Given the description of an element on the screen output the (x, y) to click on. 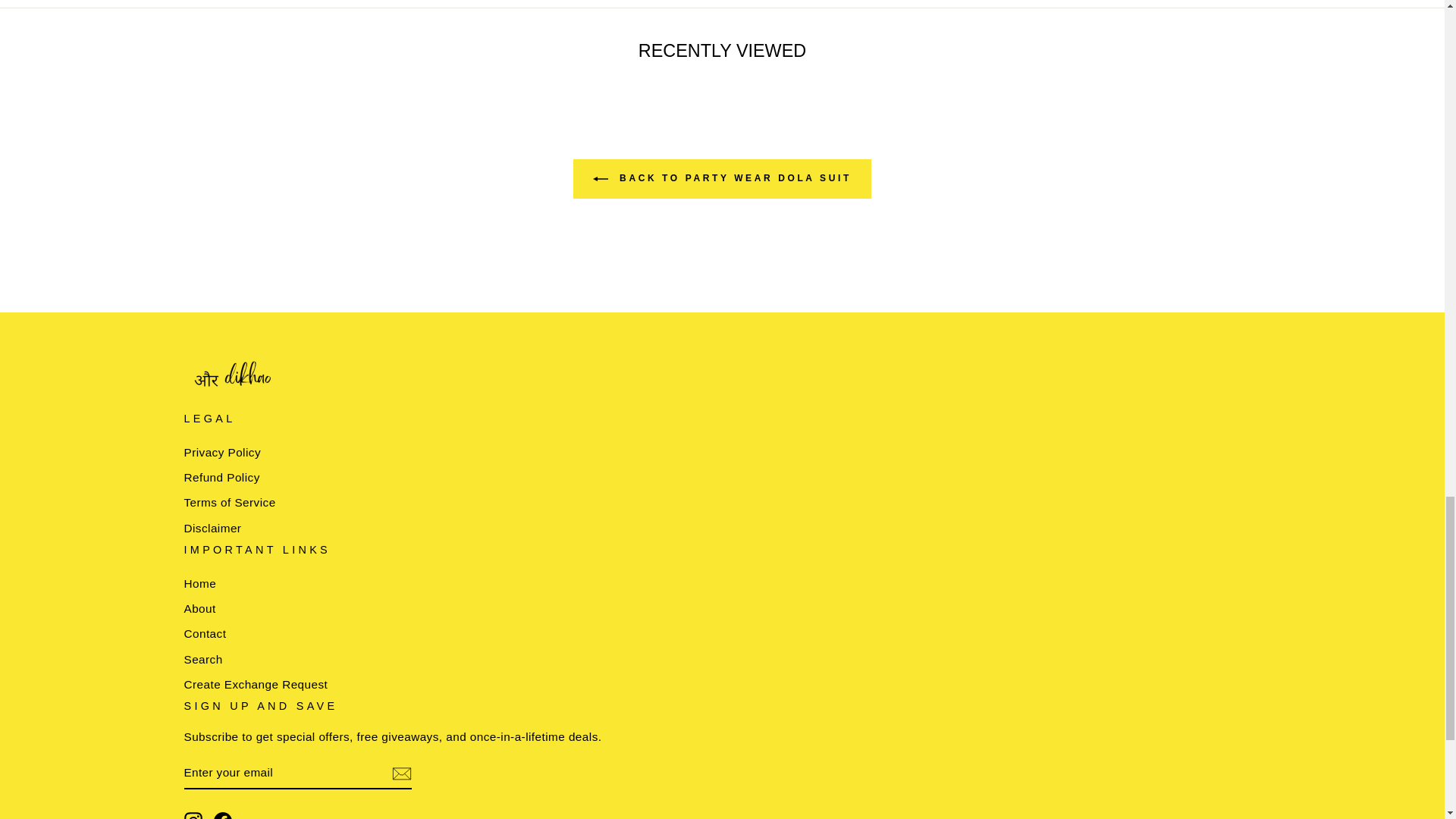
Aur Dikhao. on Instagram (192, 815)
Aur Dikhao. on Facebook (222, 815)
